Given the description of an element on the screen output the (x, y) to click on. 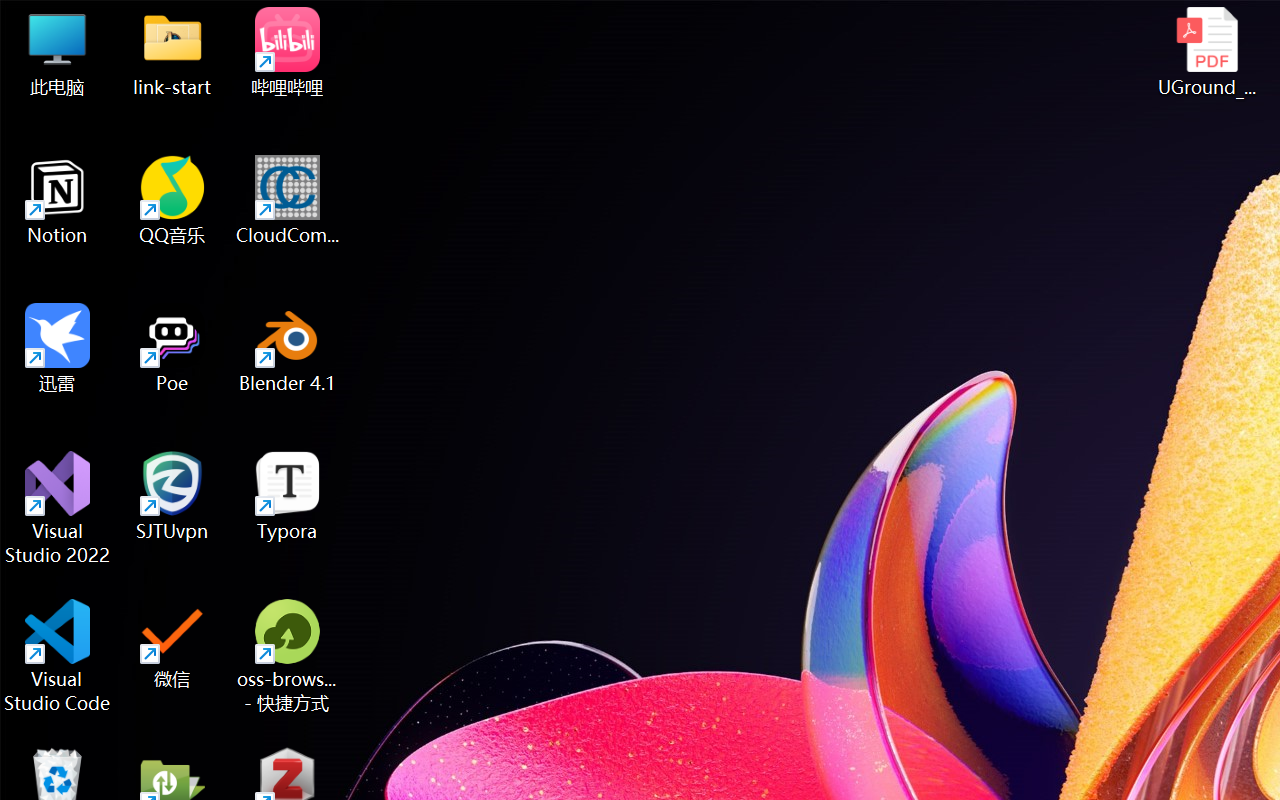
CloudCompare (287, 200)
SJTUvpn (172, 496)
UGround_paper.pdf (1206, 52)
Visual Studio 2022 (57, 508)
Notion (57, 200)
Typora (287, 496)
Blender 4.1 (287, 348)
Poe (172, 348)
Visual Studio Code (57, 656)
